Given the description of an element on the screen output the (x, y) to click on. 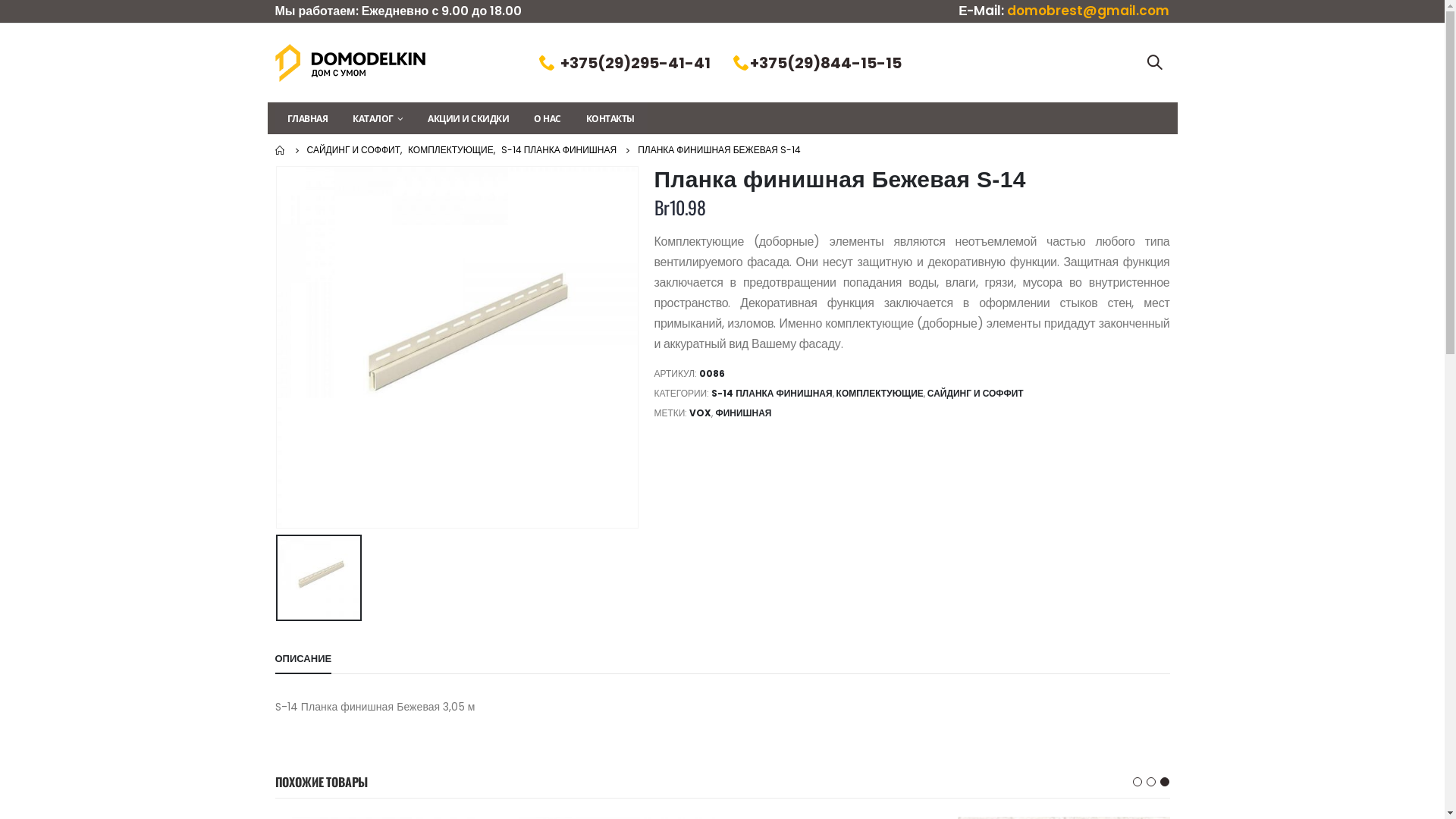
+375(29)844-15-15 Element type: text (825, 62)
+375(29)295-41-41 Element type: text (635, 62)
VOX Element type: text (700, 412)
s14-bej Element type: hover (456, 346)
Go to Home Page Element type: hover (279, 149)
domobrest@gmail.com Element type: text (1088, 10)
